Given the description of an element on the screen output the (x, y) to click on. 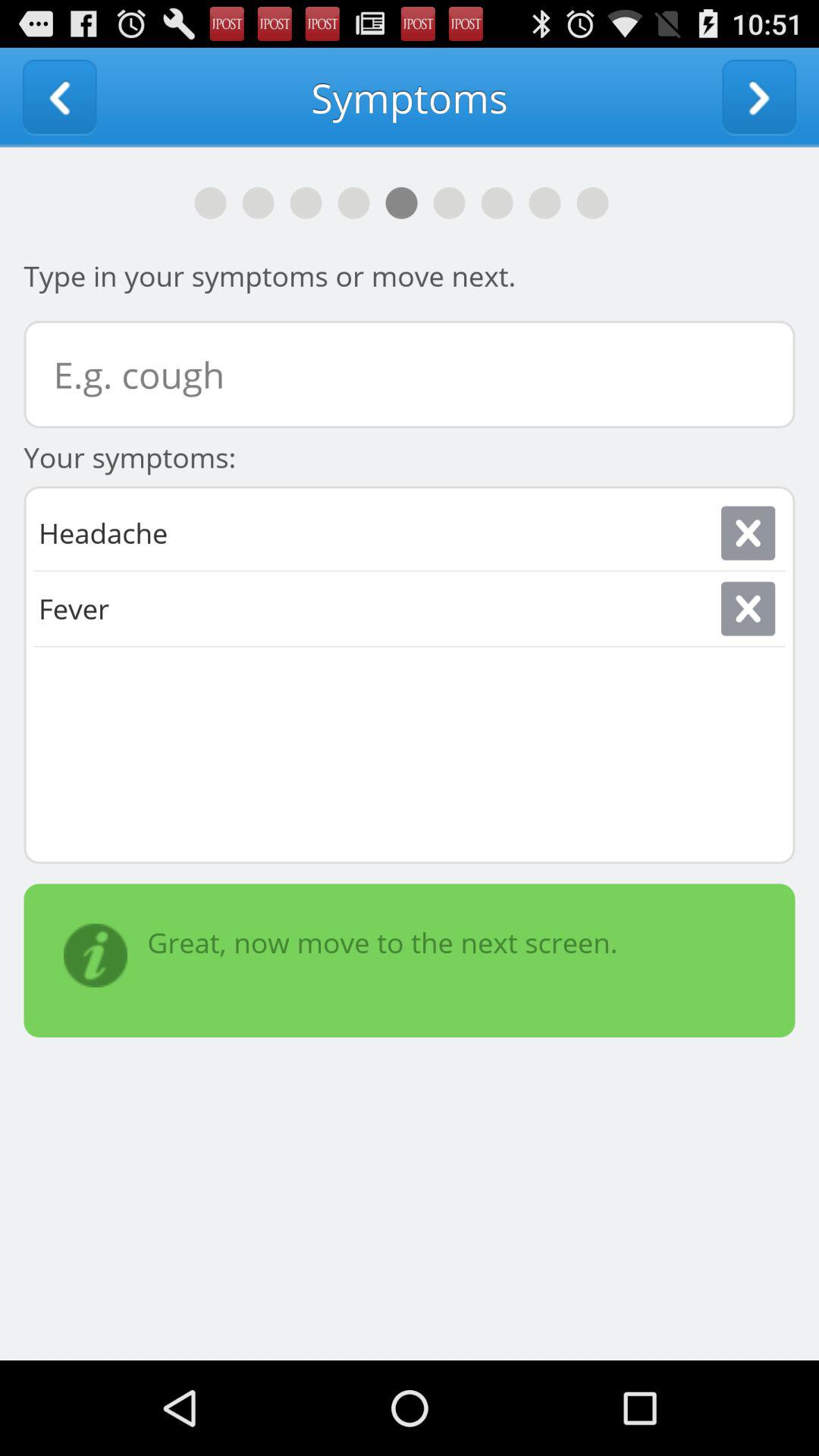
toggle symptoms field (409, 374)
